Given the description of an element on the screen output the (x, y) to click on. 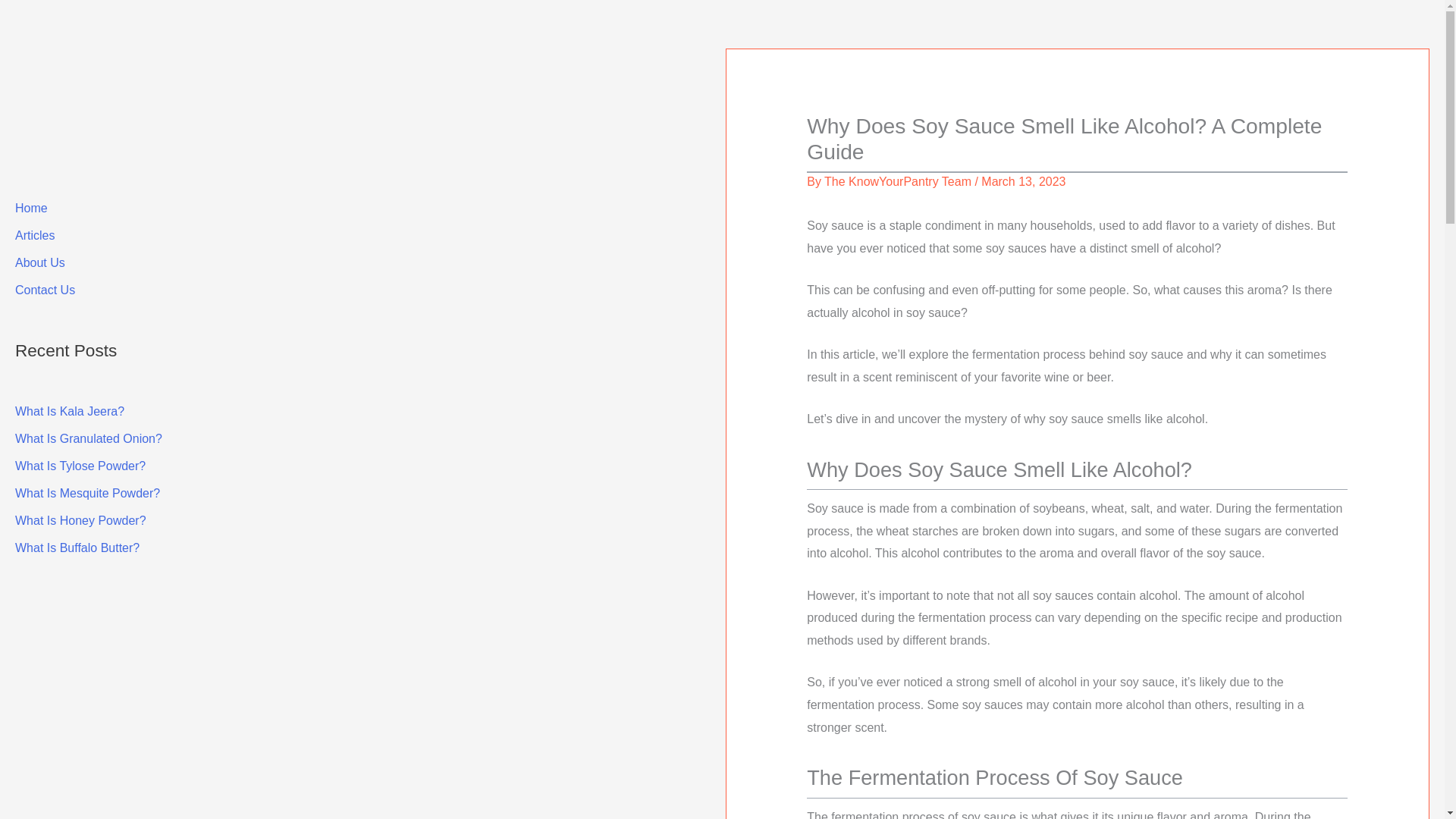
What Is Honey Powder? (80, 520)
What Is Kala Jeera? (68, 410)
The KnowYourPantry Team (897, 181)
Contact Us (44, 289)
View all posts by The KnowYourPantry Team (897, 181)
What Is Granulated Onion? (87, 438)
What Is Mesquite Powder? (87, 492)
What Is Tylose Powder? (79, 465)
Home (31, 207)
Articles (34, 235)
What Is Buffalo Butter? (76, 547)
About Us (39, 262)
